Given the description of an element on the screen output the (x, y) to click on. 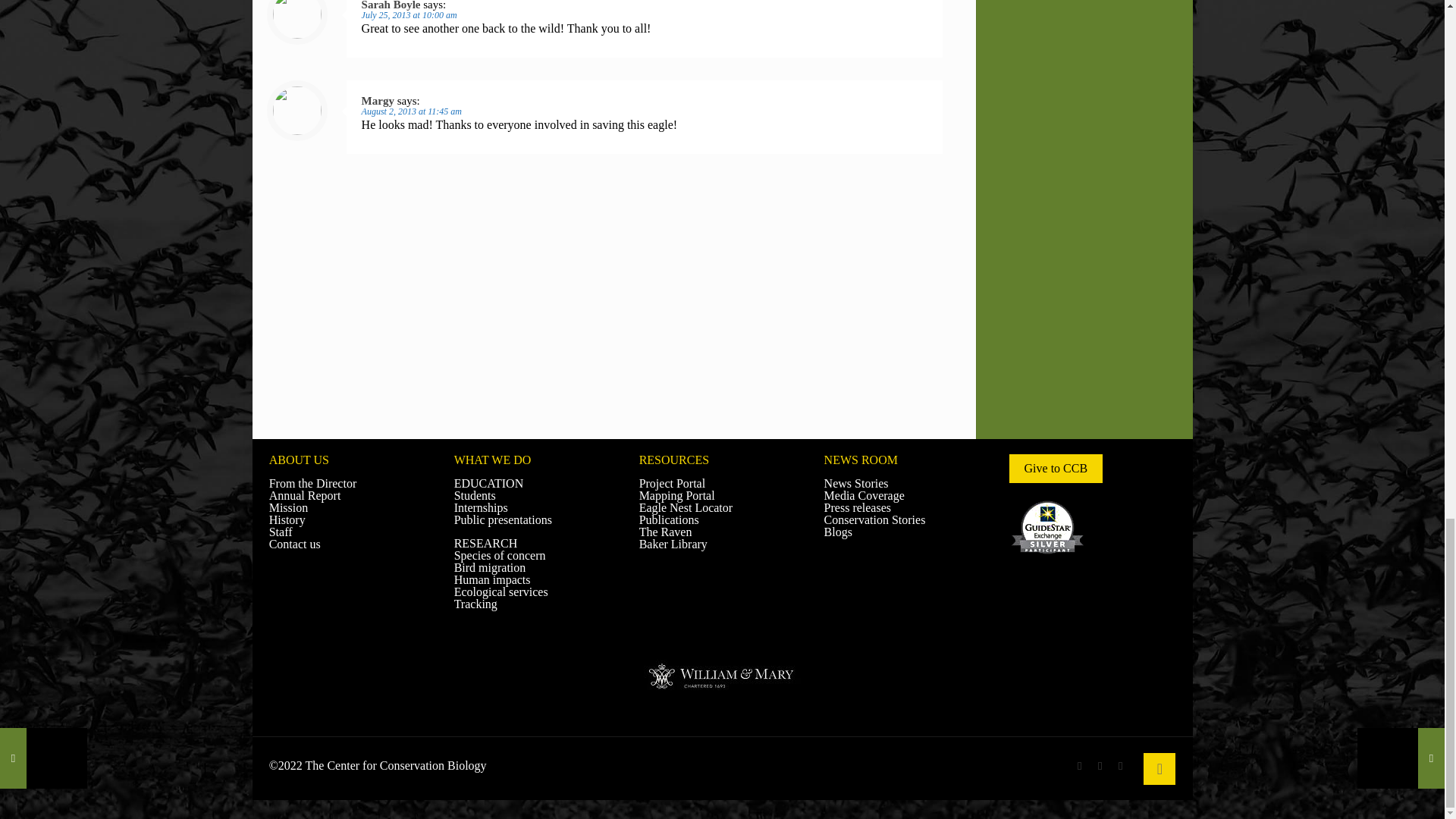
Flickr (1120, 766)
Twitter (1100, 766)
Facebook (1079, 766)
